Given the description of an element on the screen output the (x, y) to click on. 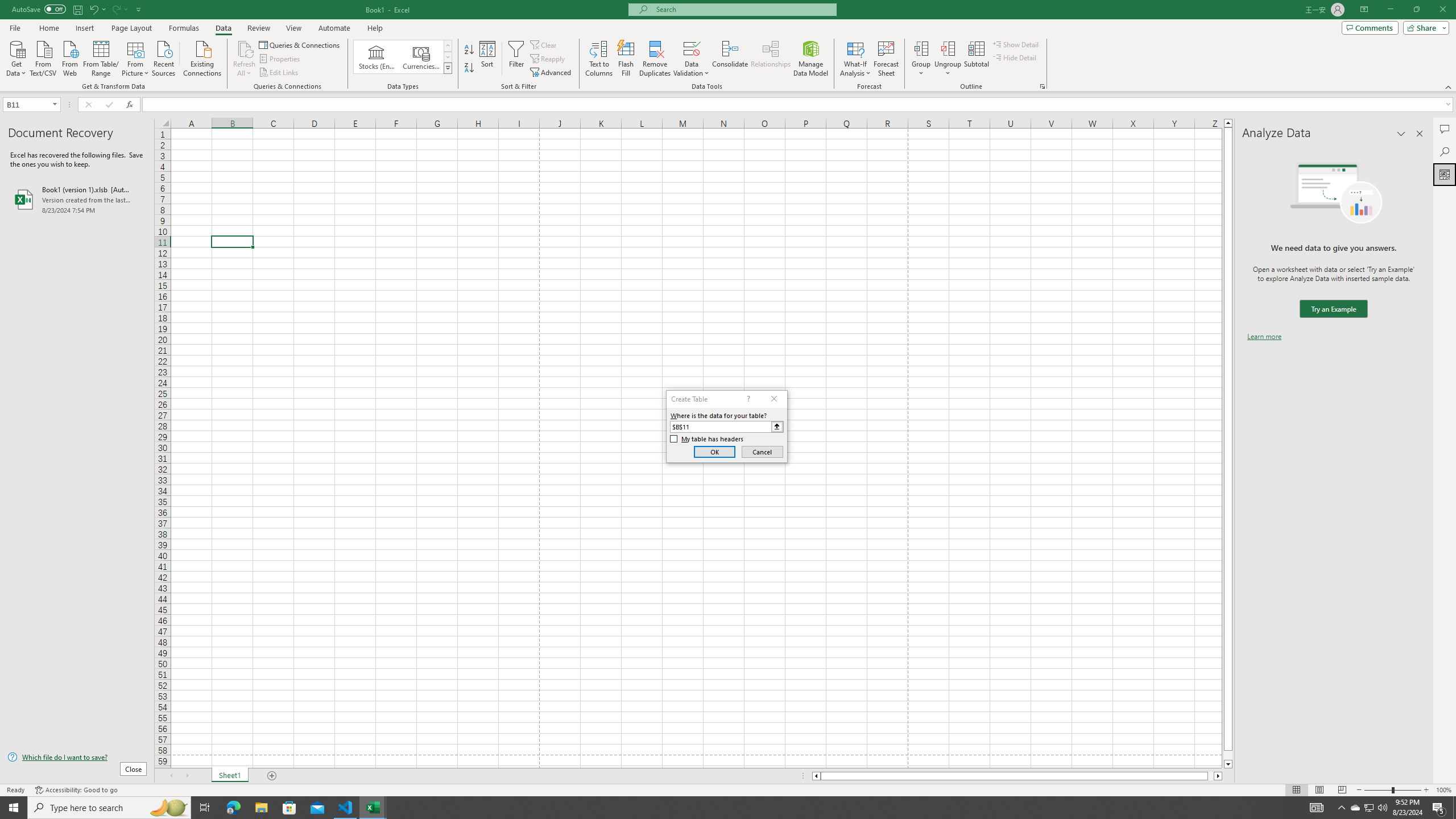
Microsoft search (742, 9)
Group... (921, 58)
Flash Fill (625, 58)
Stocks (English) (375, 56)
From Table/Range (100, 57)
Line down (1228, 764)
Quick Access Toolbar (77, 9)
Page Layout (131, 28)
Sort... (487, 58)
Page down (1228, 755)
Zoom (1392, 790)
Customize Quick Access Toolbar (139, 9)
Restore Down (1416, 9)
Data Validation... (691, 48)
Sort Z to A (469, 67)
